Given the description of an element on the screen output the (x, y) to click on. 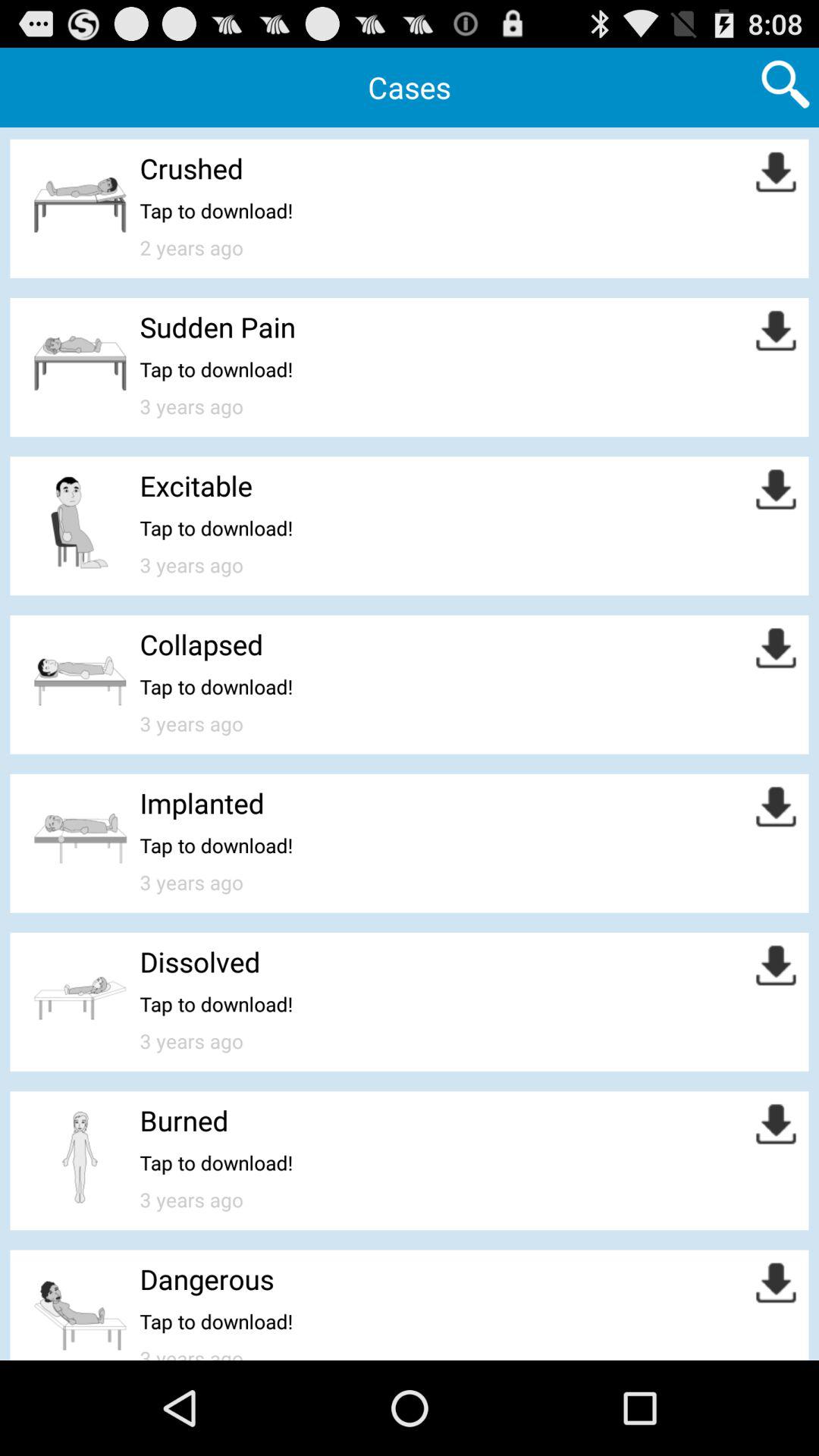
launch the icon above tap to download! icon (206, 1278)
